Given the description of an element on the screen output the (x, y) to click on. 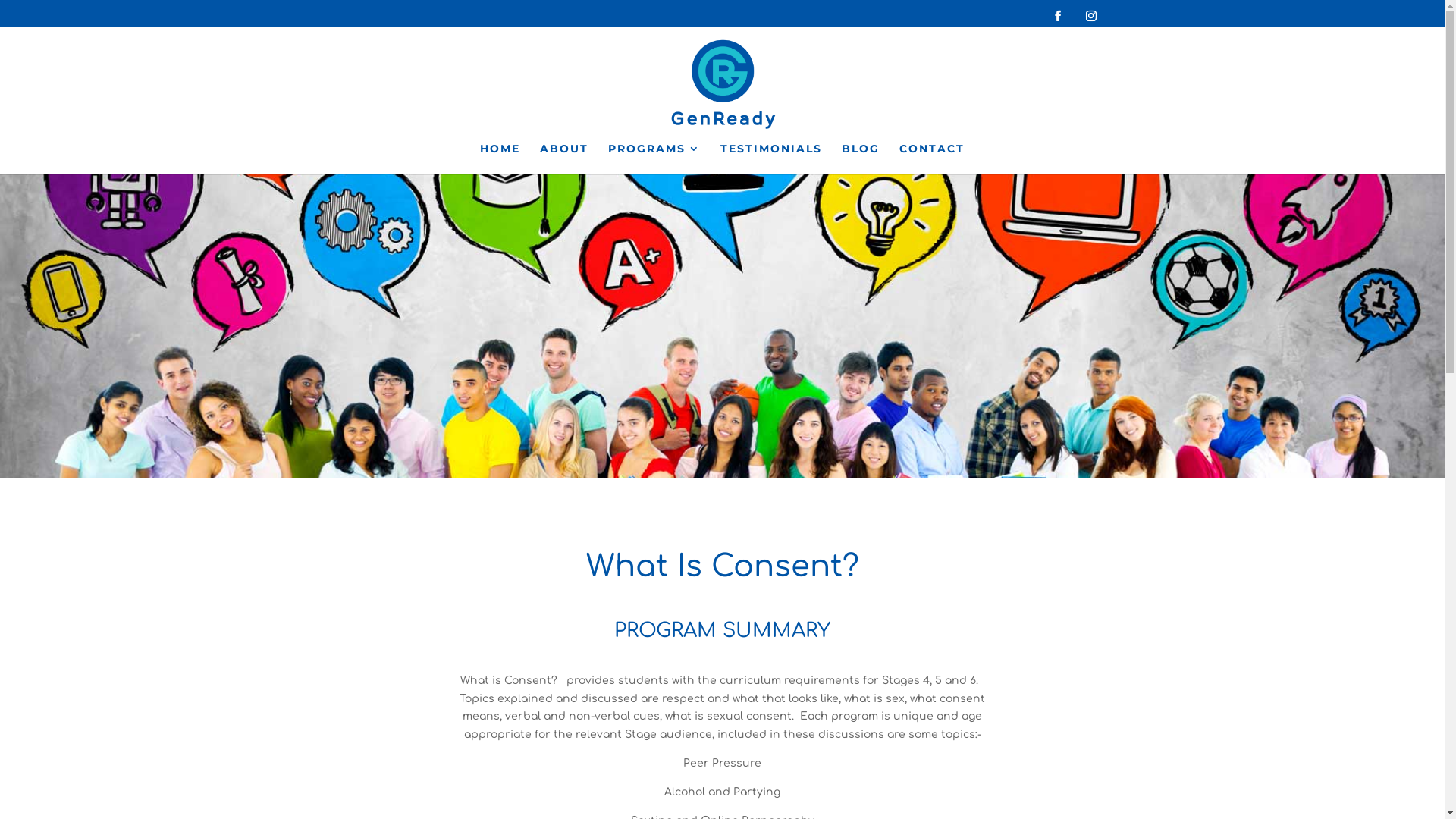
ABOUT Element type: text (563, 158)
HOME Element type: text (500, 158)
BLOG Element type: text (860, 158)
PROGRAMS Element type: text (654, 158)
TESTIMONIALS Element type: text (771, 158)
CONTACT Element type: text (931, 158)
